Given the description of an element on the screen output the (x, y) to click on. 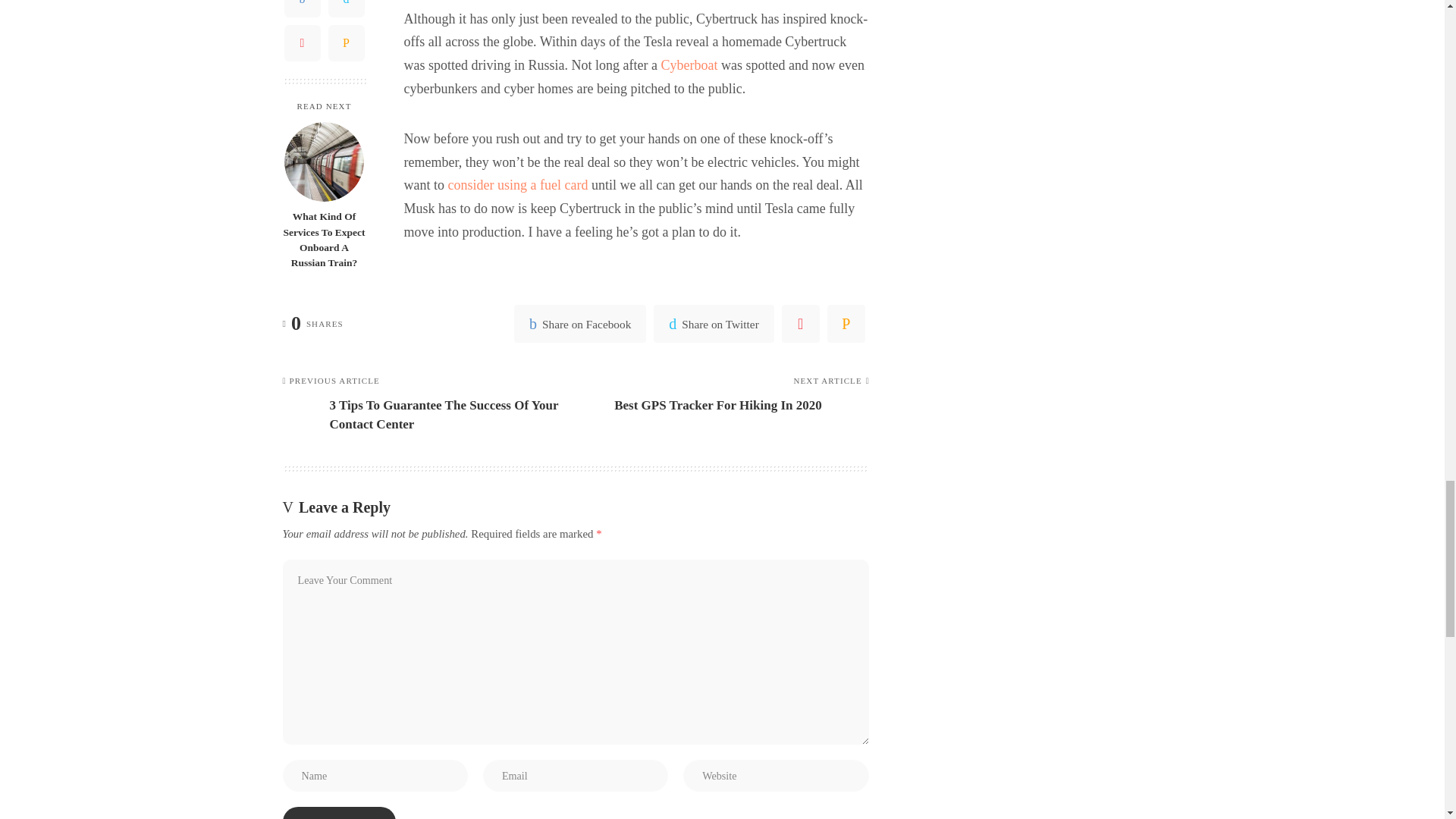
Post Comment (338, 812)
